Given the description of an element on the screen output the (x, y) to click on. 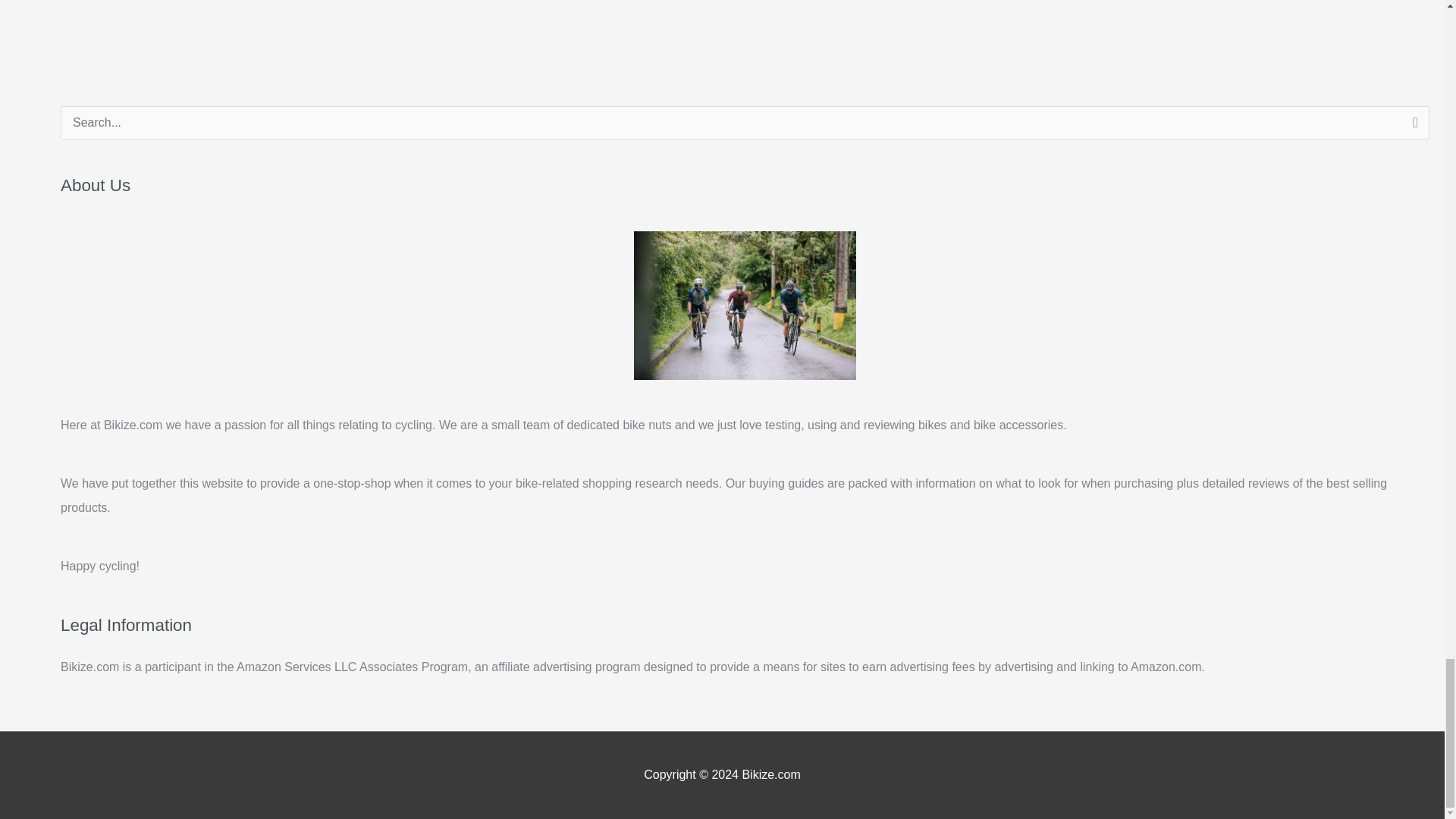
Search (1411, 127)
The Ultimate Guide to Long Riding with a BMX Bike (1393, 3)
Search (1411, 127)
Search (1411, 127)
